Given the description of an element on the screen output the (x, y) to click on. 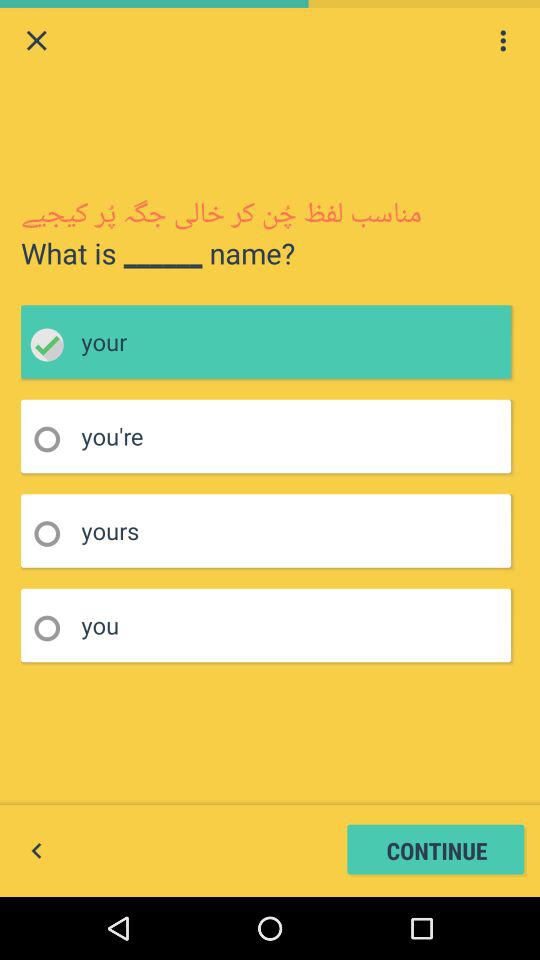
choose your (53, 344)
